Given the description of an element on the screen output the (x, y) to click on. 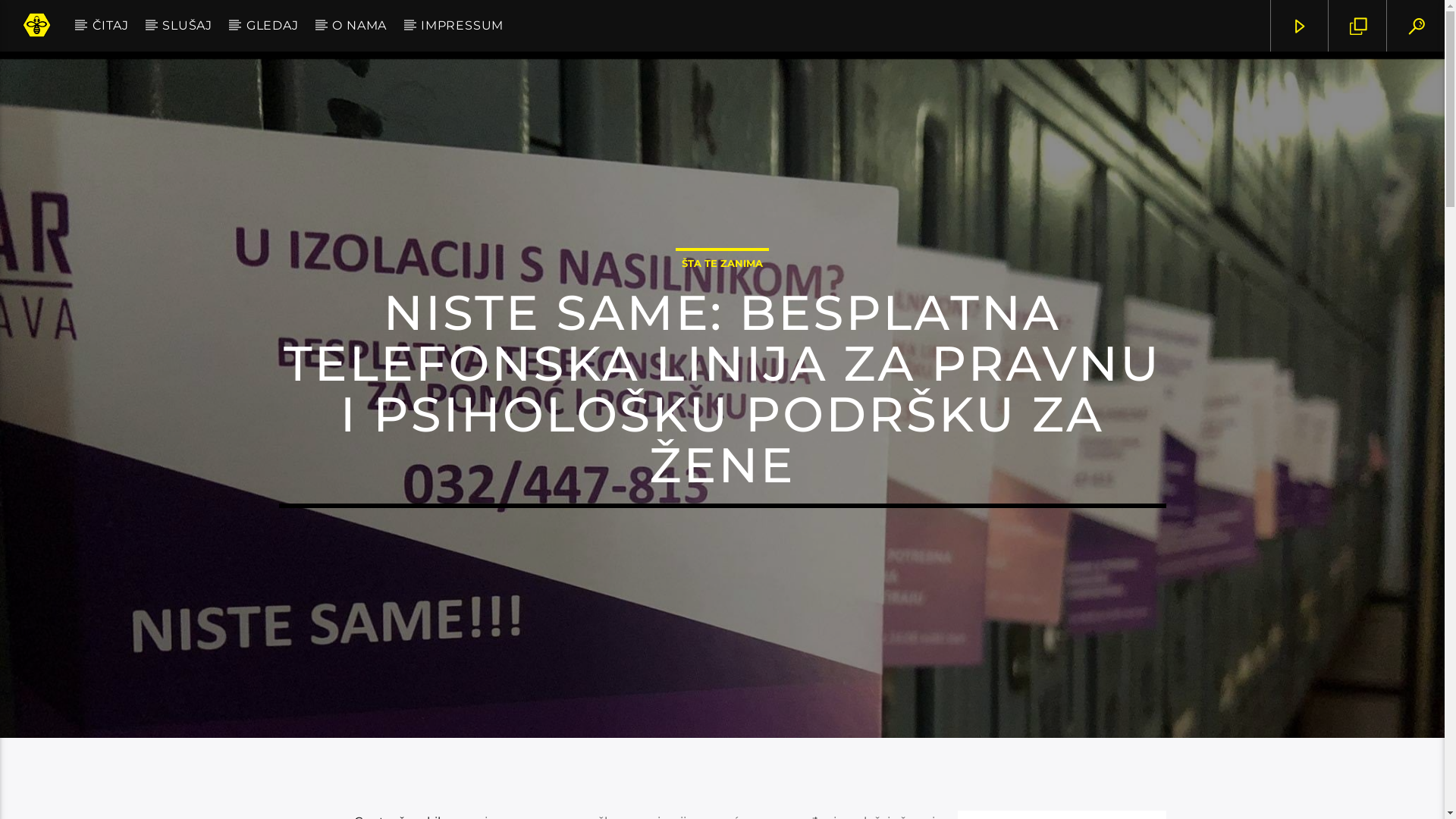
IMPRESSUM Element type: text (462, 25)
O NAMA Element type: text (359, 25)
GLEDAJ Element type: text (272, 25)
